Given the description of an element on the screen output the (x, y) to click on. 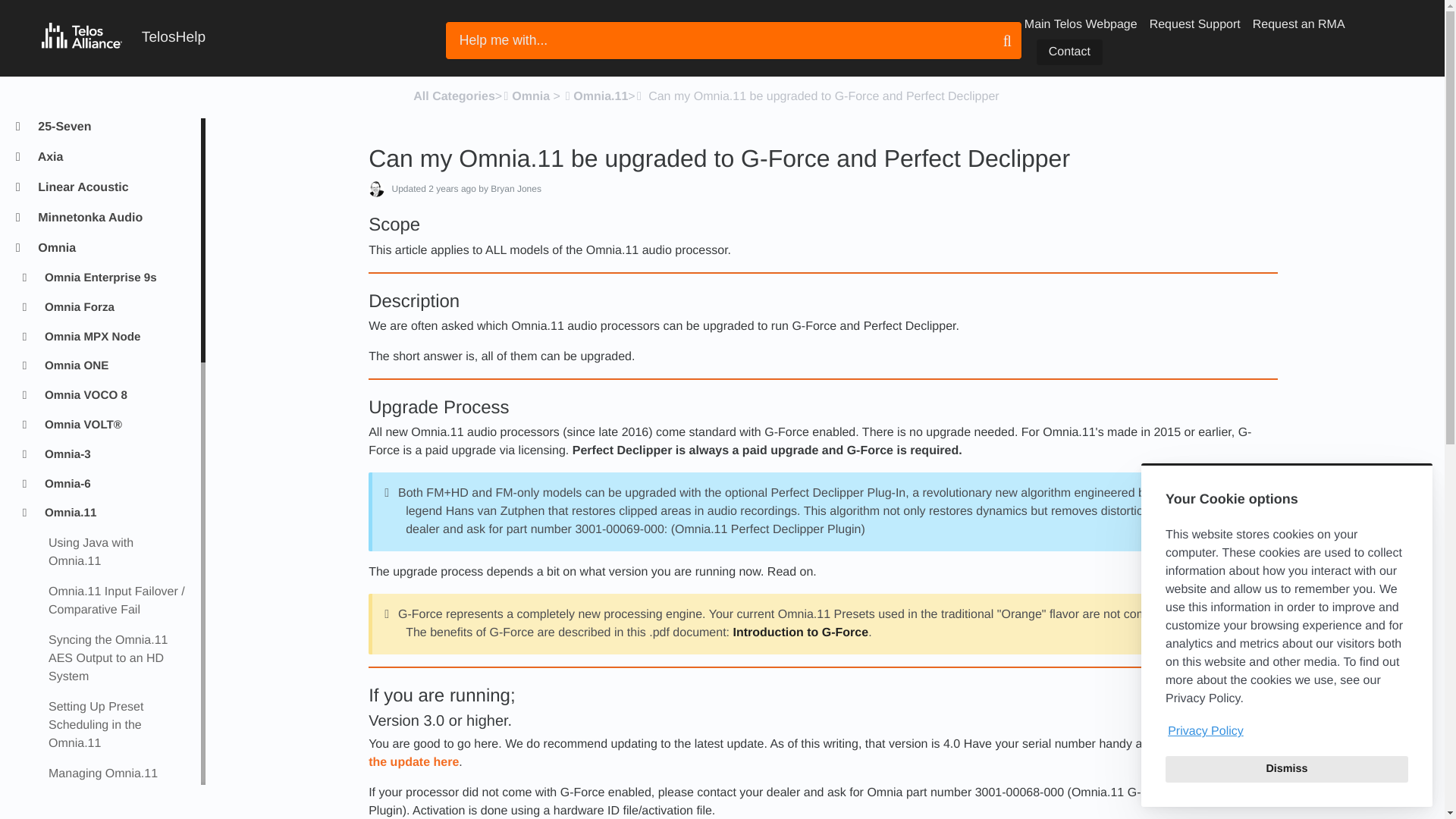
Dismiss (1286, 768)
Main Telos Webpage (1081, 24)
TelosHelp (123, 37)
25-Seven (112, 126)
Privacy Policy (1286, 731)
Request an RMA (1298, 24)
Request Support (1195, 24)
Contact (1069, 52)
